Given the description of an element on the screen output the (x, y) to click on. 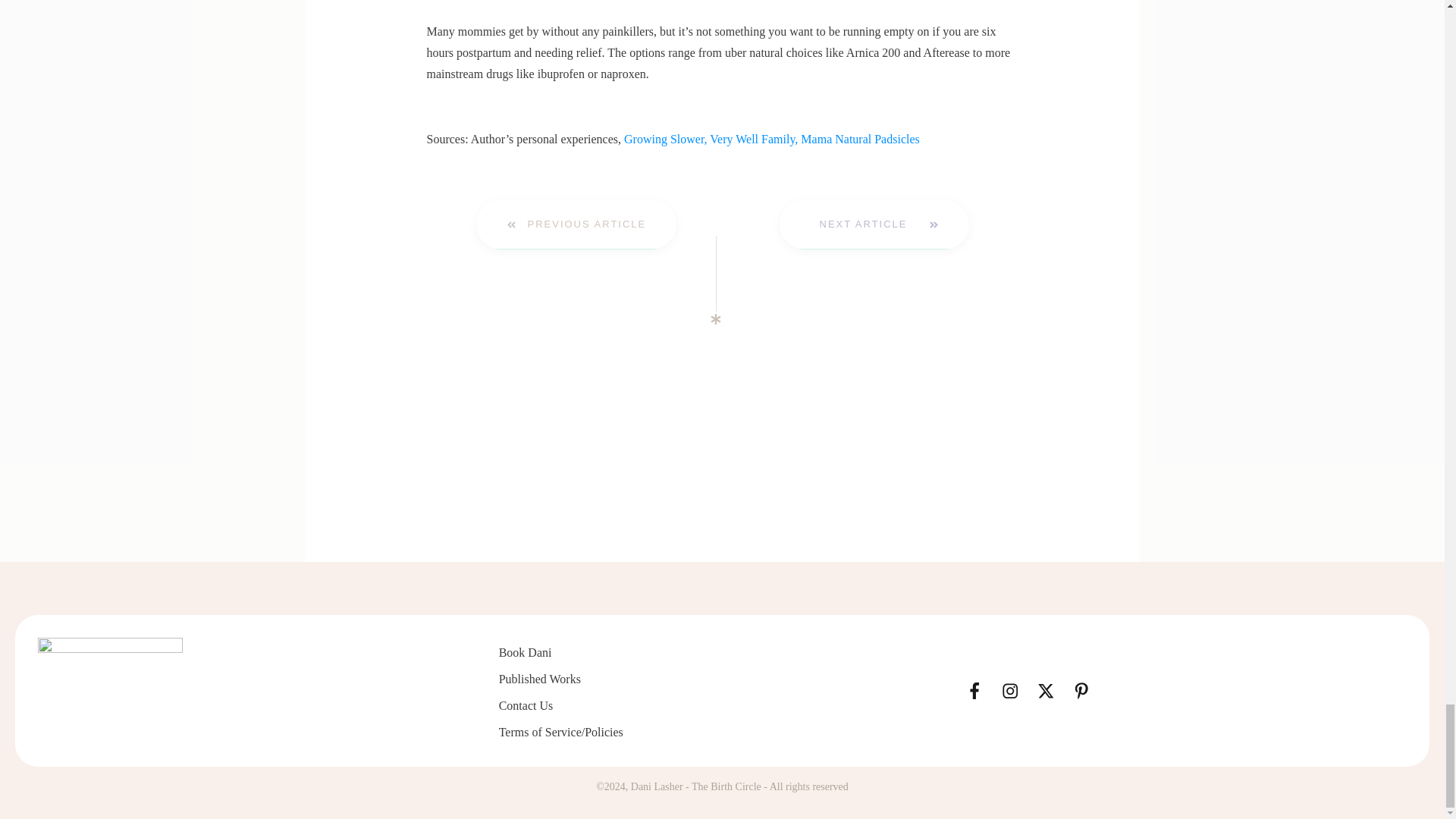
Published Works (539, 678)
, Mama Natural Padsicles (856, 138)
Contact Us (526, 705)
Growing Slower (664, 138)
, Very Well Family (749, 138)
Book Dani (525, 652)
PREVIOUS ARTICLE (576, 224)
NEXT ARTICLE (873, 224)
